Given the description of an element on the screen output the (x, y) to click on. 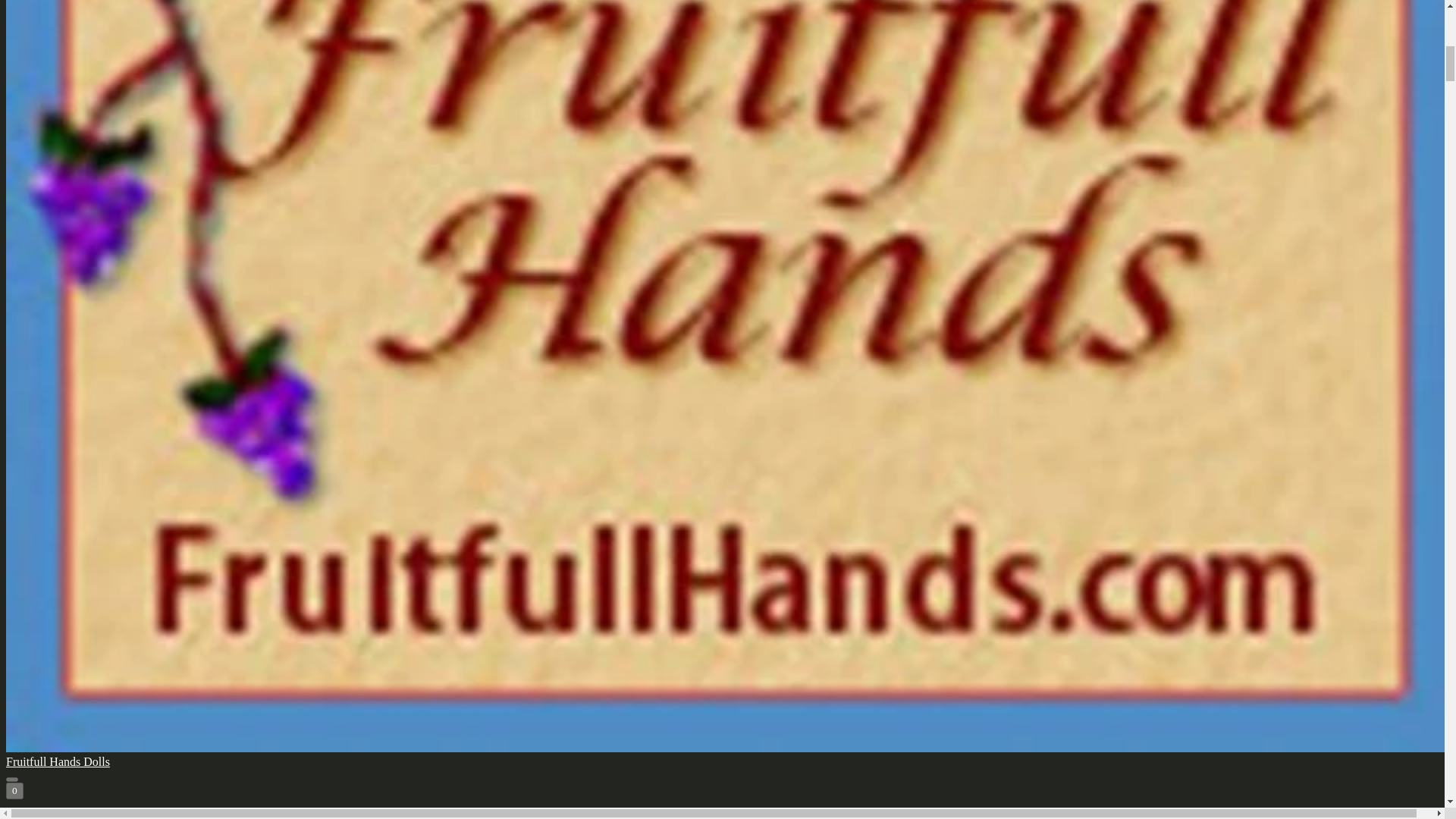
0 (14, 790)
